Given the description of an element on the screen output the (x, y) to click on. 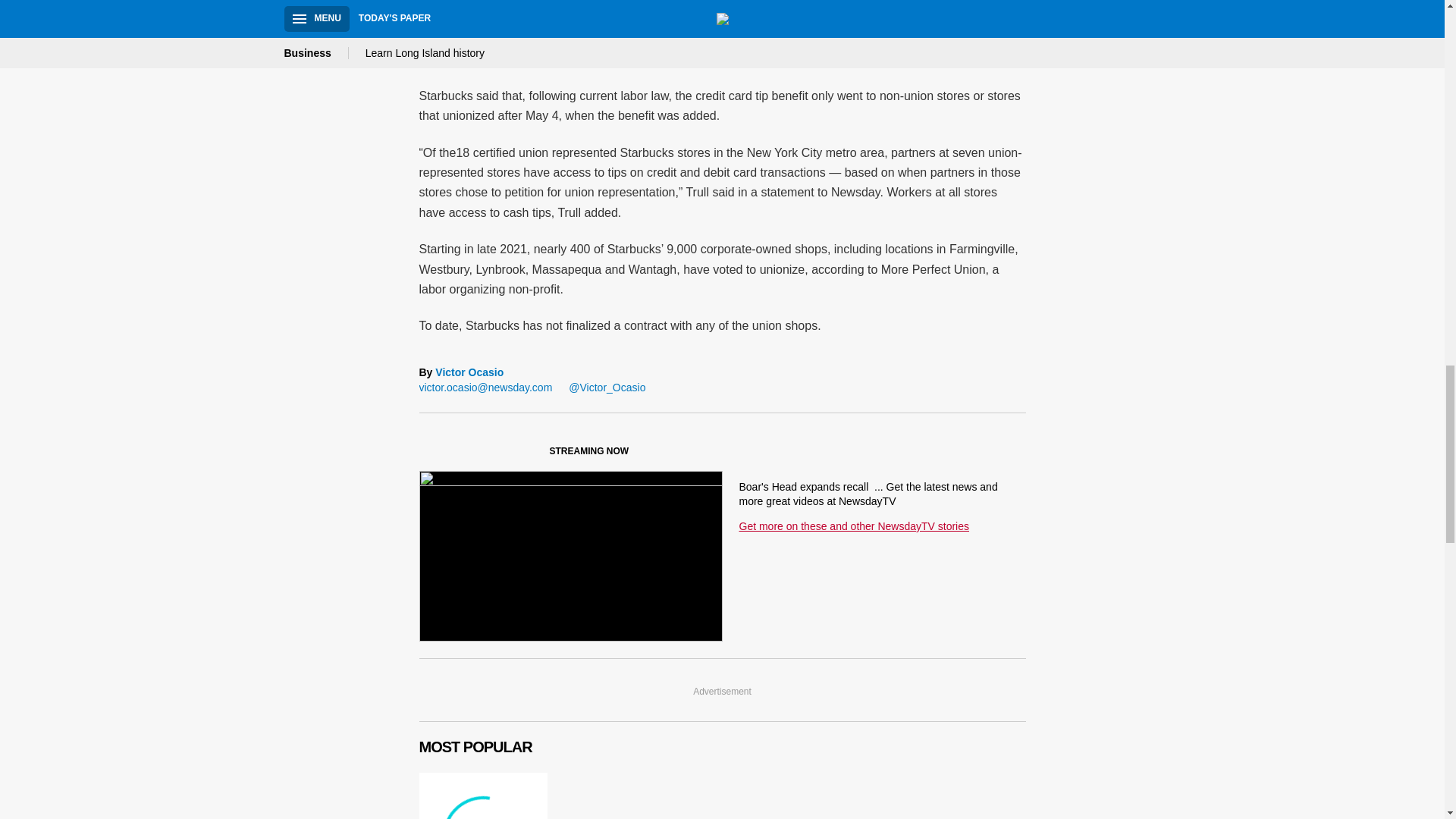
Get more on these and other NewsdayTV stories (853, 526)
STREAMING NOW (530, 454)
Victor Ocasio (469, 372)
